Given the description of an element on the screen output the (x, y) to click on. 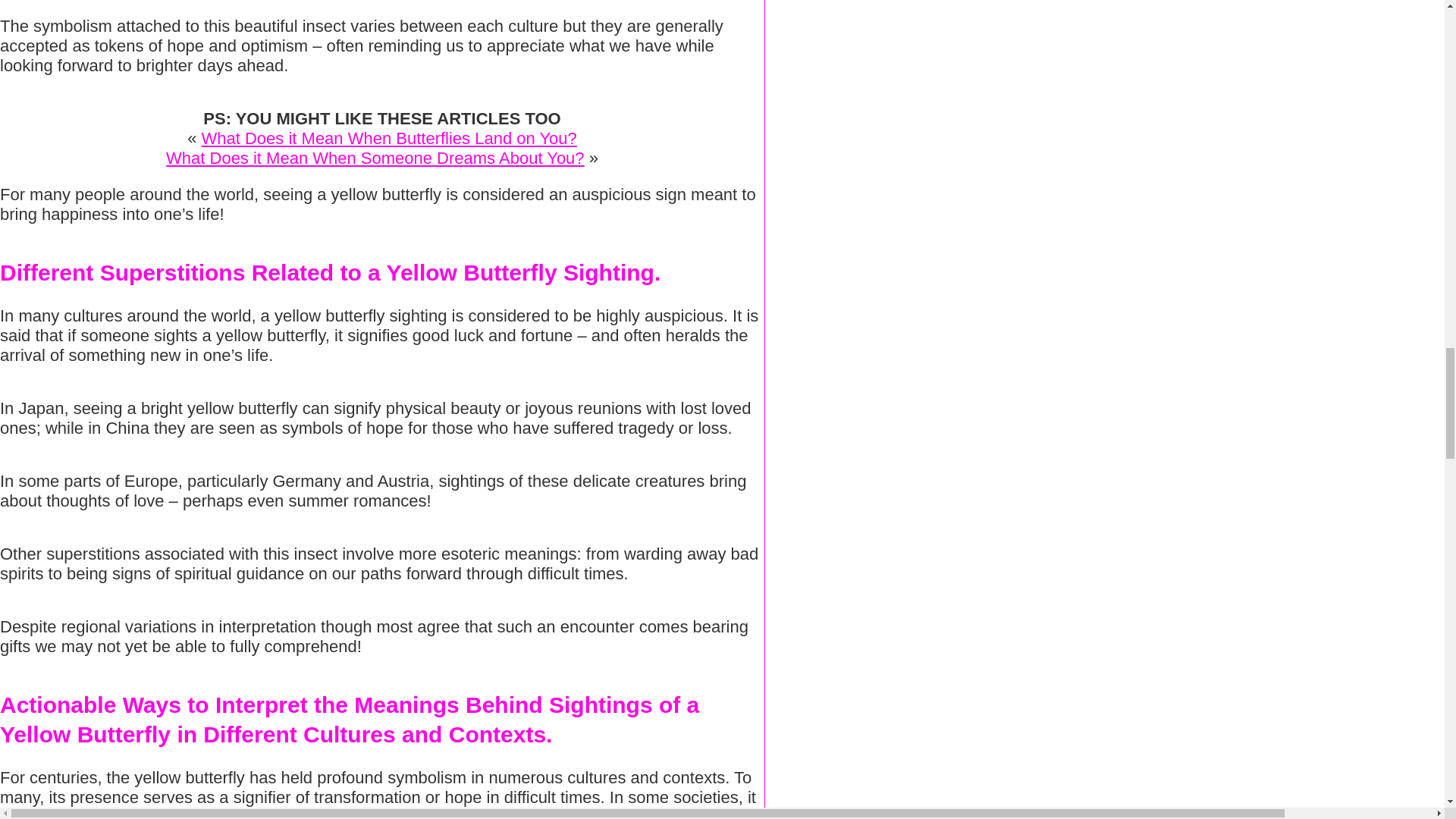
What Does it Mean When Someone Dreams About You? (375, 157)
What Does it Mean When Butterflies Land on You? (389, 138)
